Given the description of an element on the screen output the (x, y) to click on. 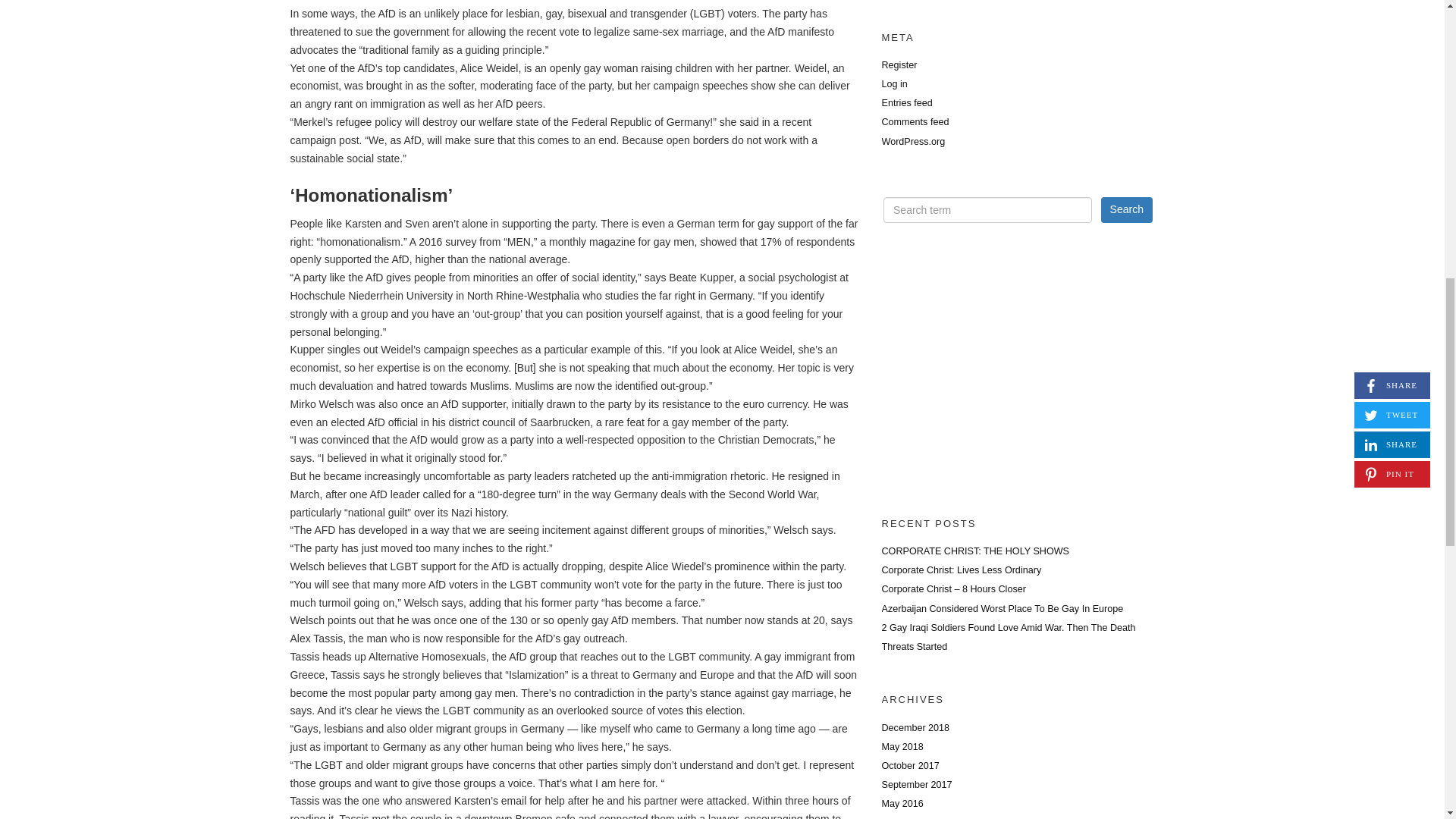
Azerbaijan Considered Worst Place To Be Gay In Europe (1001, 608)
Search (1126, 209)
Register (898, 64)
CORPORATE CHRIST: THE HOLY SHOWS (974, 551)
Entries feed (905, 102)
Corporate Christ: Lives Less Ordinary (960, 570)
WordPress.org (912, 141)
Advertisement (1017, 374)
Log in (893, 83)
Comments feed (914, 122)
Search (1126, 209)
